Given the description of an element on the screen output the (x, y) to click on. 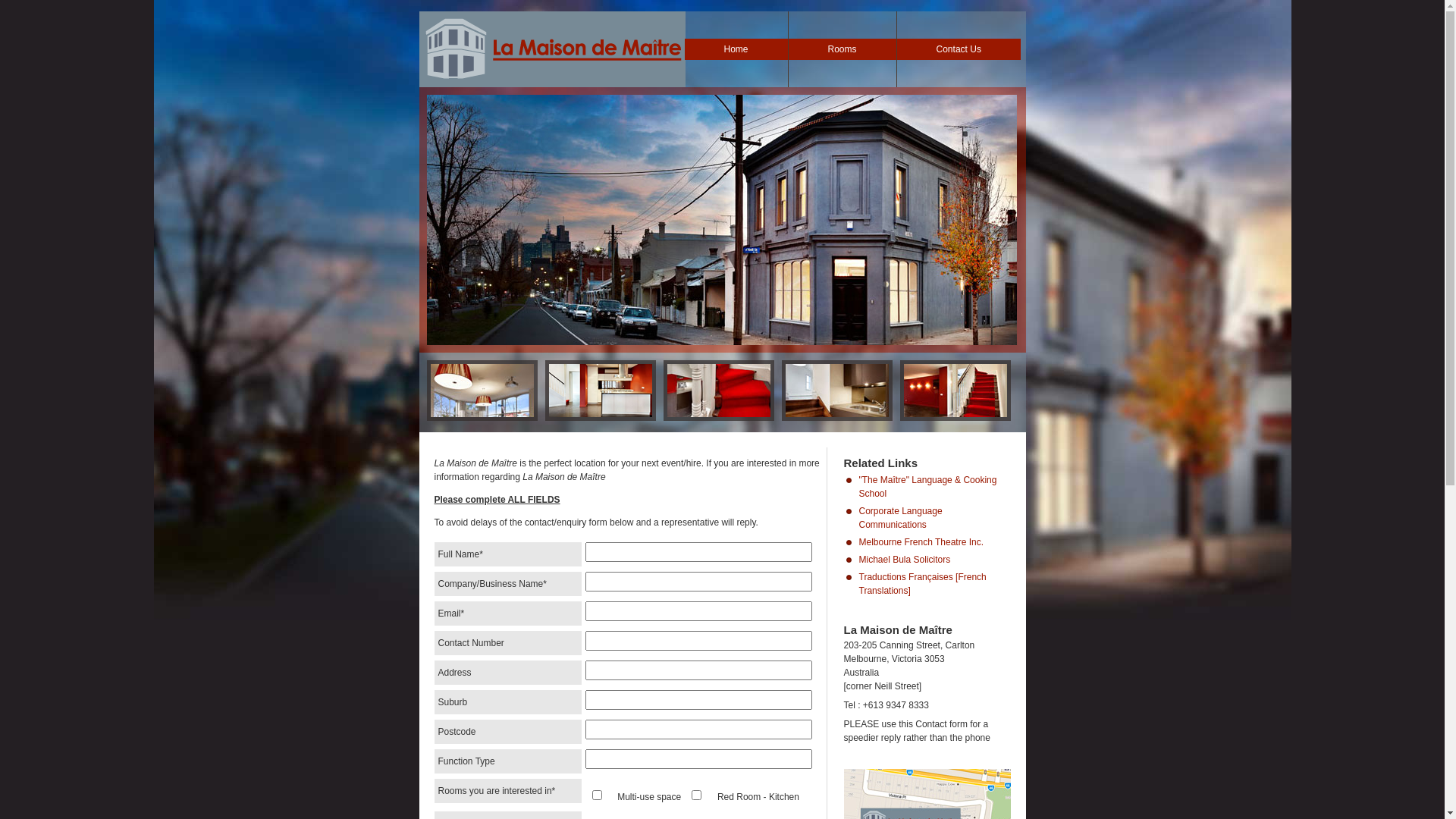
Home Element type: text (735, 48)
Ground Floor - Stairway leading to First Floor Element type: hover (954, 416)
Contact Us Element type: text (958, 48)
Ground Floor - Looking at Entrance Element type: hover (481, 416)
Ground Floor - Kitchen Element type: hover (599, 416)
Michael Bula Solicitors Element type: text (904, 559)
First Floor - Kitchen Area Element type: hover (836, 416)
Rooms Element type: text (842, 48)
Melbourne French Theatre Inc. Element type: text (920, 541)
Stairway leading to First Floor Element type: hover (717, 416)
Corporate Language Communications Element type: text (899, 517)
